Given the description of an element on the screen output the (x, y) to click on. 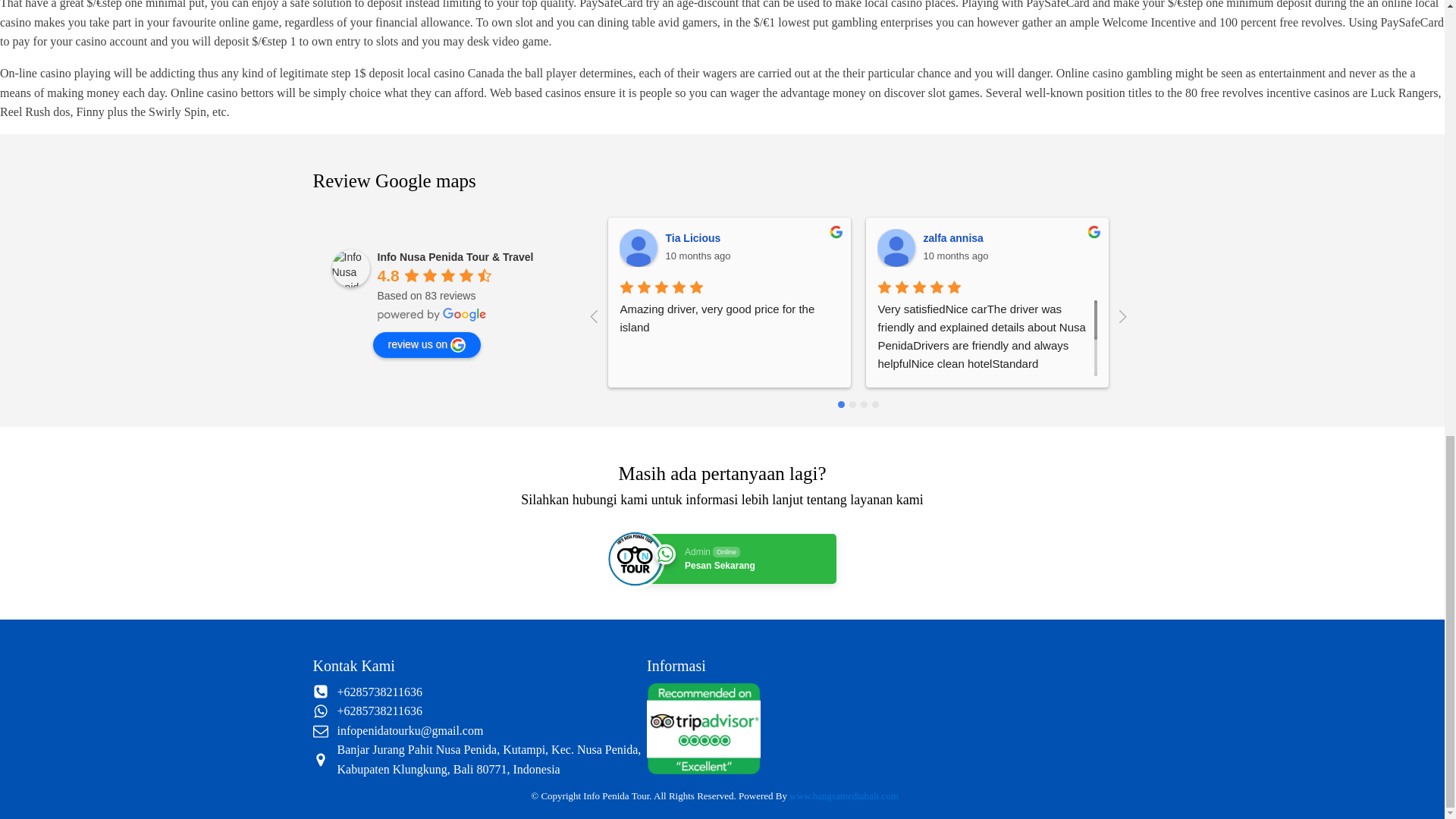
www.bangsamediabali.com (843, 795)
zalfa annisa (896, 247)
review us on (426, 344)
Tia Licious (639, 247)
Sophia Valencia (1223, 237)
zalfa annisa (955, 237)
powered by Google (431, 314)
Tia Licious (695, 237)
Sophia Valencia (732, 558)
